Given the description of an element on the screen output the (x, y) to click on. 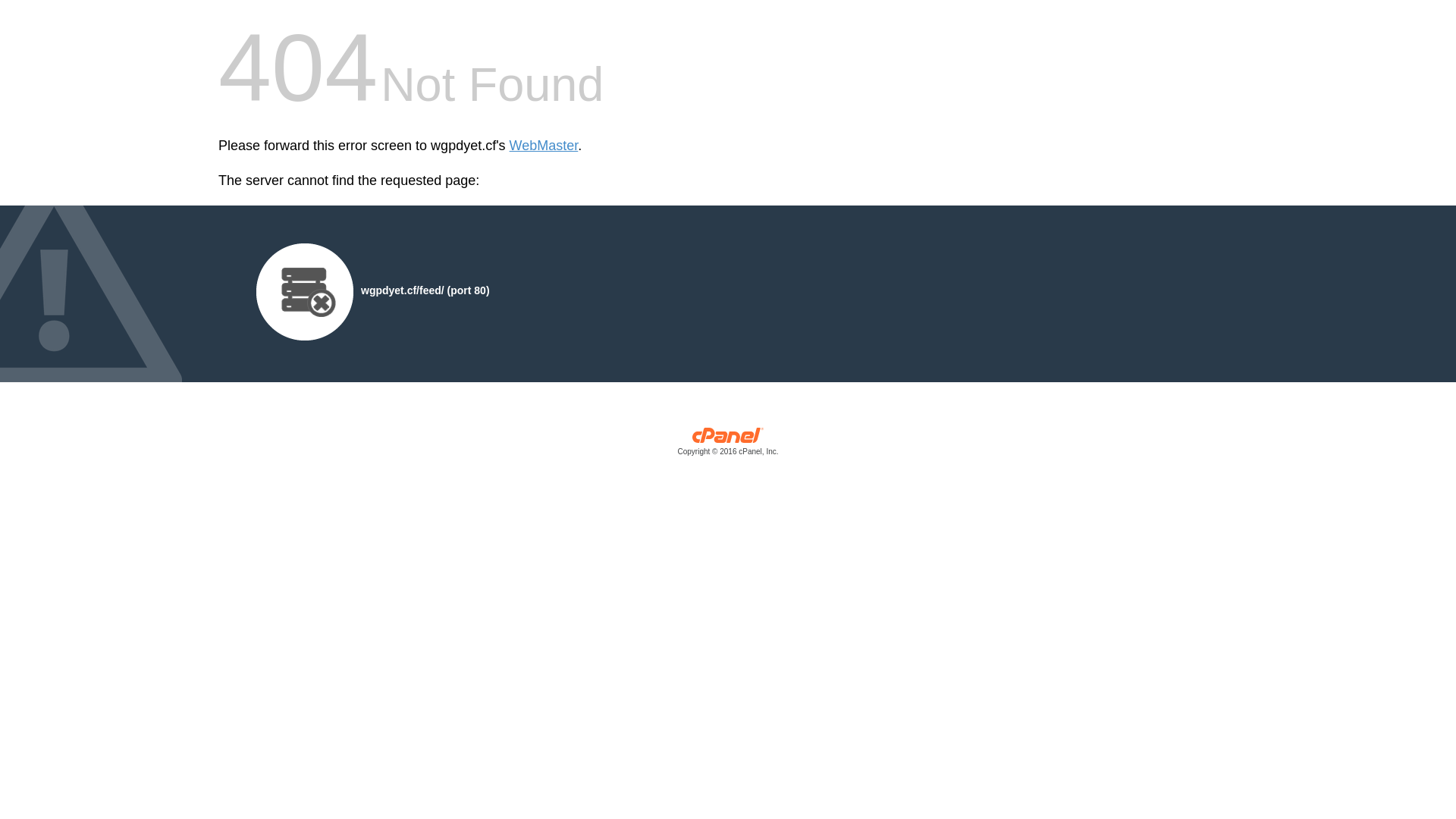
WebMaster Element type: text (543, 145)
